Given the description of an element on the screen output the (x, y) to click on. 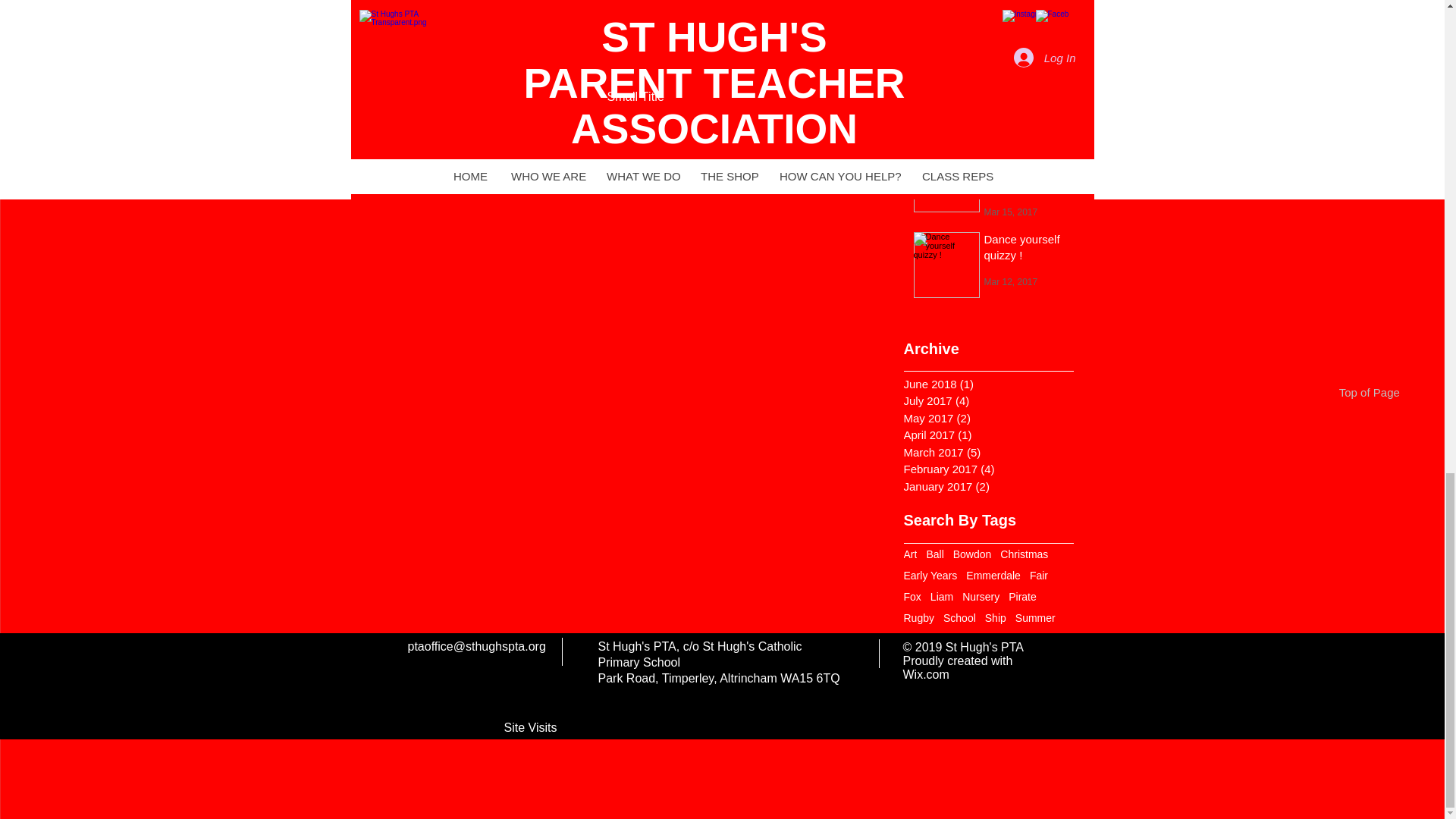
May 8, 2017 (1008, 24)
Summer Ball - only 3 tables left! (1027, 6)
Early Years (931, 575)
Art (910, 553)
Dance yourself quizzy ! (1027, 249)
Mar 12, 2017 (1011, 281)
Christmas (1024, 553)
Summer Fair Survey launched (1027, 77)
Free child entrance to Altrincham FC 18th March 3pm (1027, 172)
Ball (934, 553)
